Given the description of an element on the screen output the (x, y) to click on. 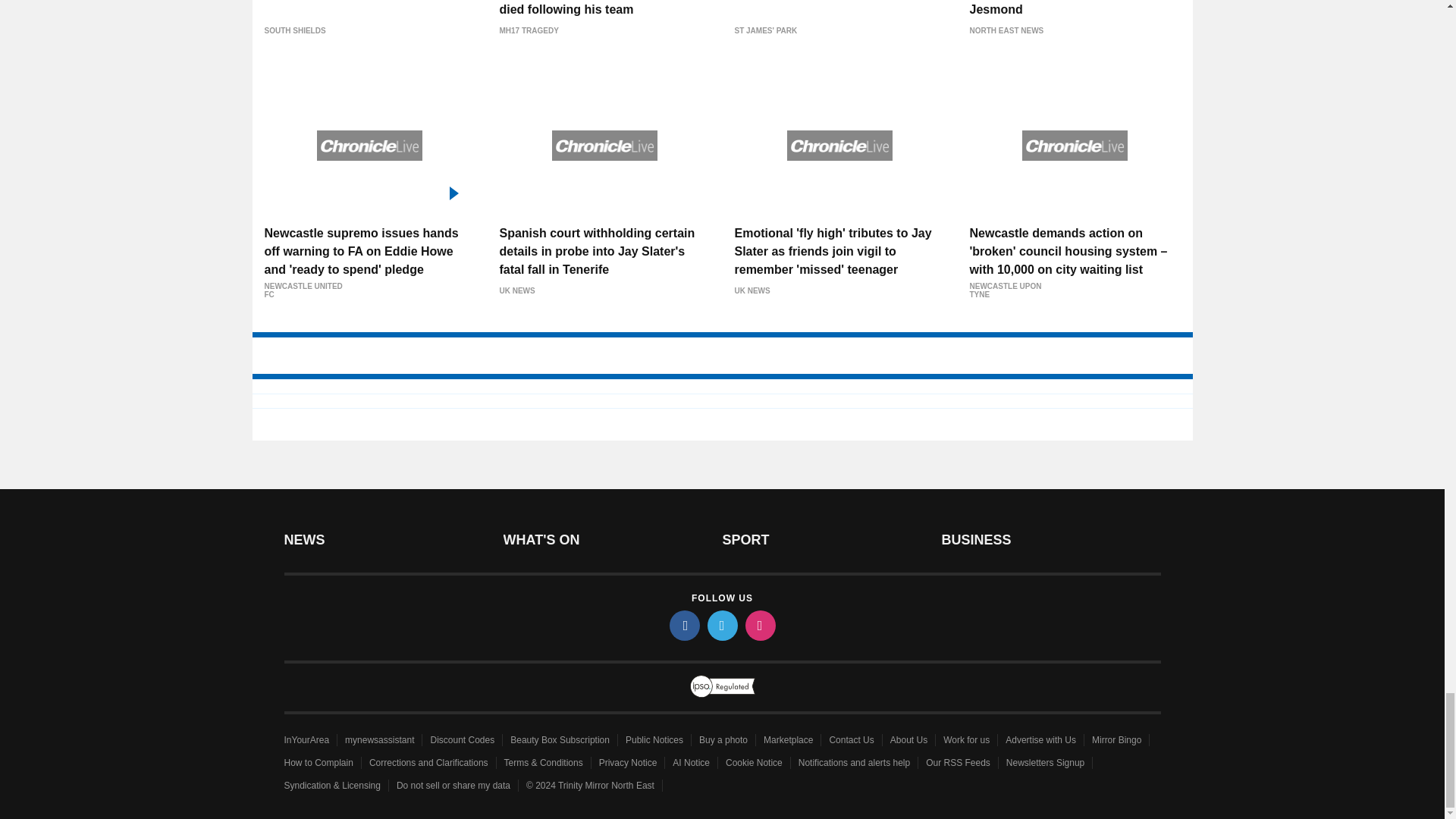
instagram (759, 625)
facebook (683, 625)
twitter (721, 625)
